Given the description of an element on the screen output the (x, y) to click on. 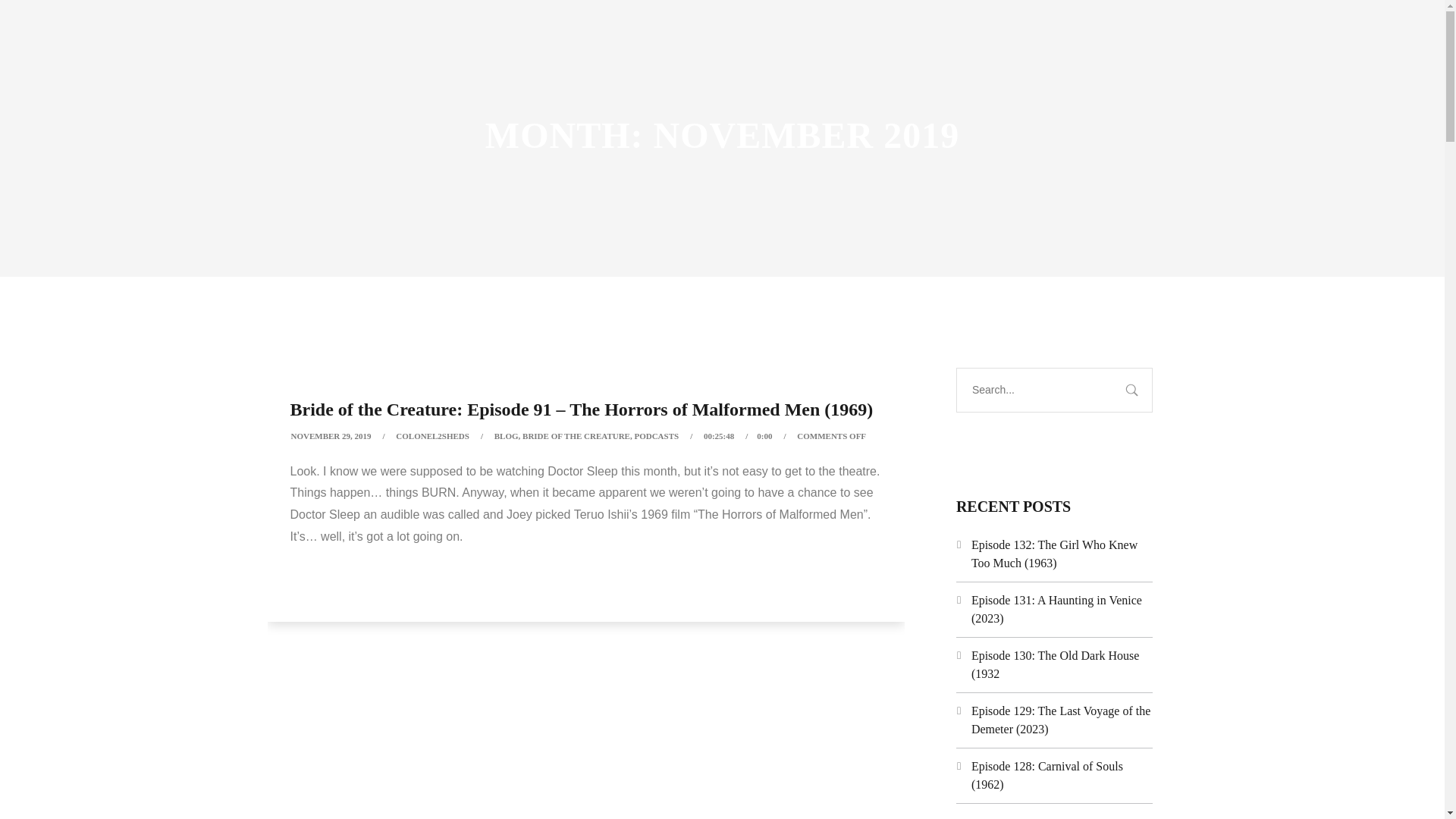
PODCASTS (655, 435)
Submit (32, 22)
BLOG (506, 435)
BRIDE OF THE CREATURE (576, 435)
NOVEMBER 29, 2019 (331, 435)
COLONEL2SHEDS (432, 435)
